Given the description of an element on the screen output the (x, y) to click on. 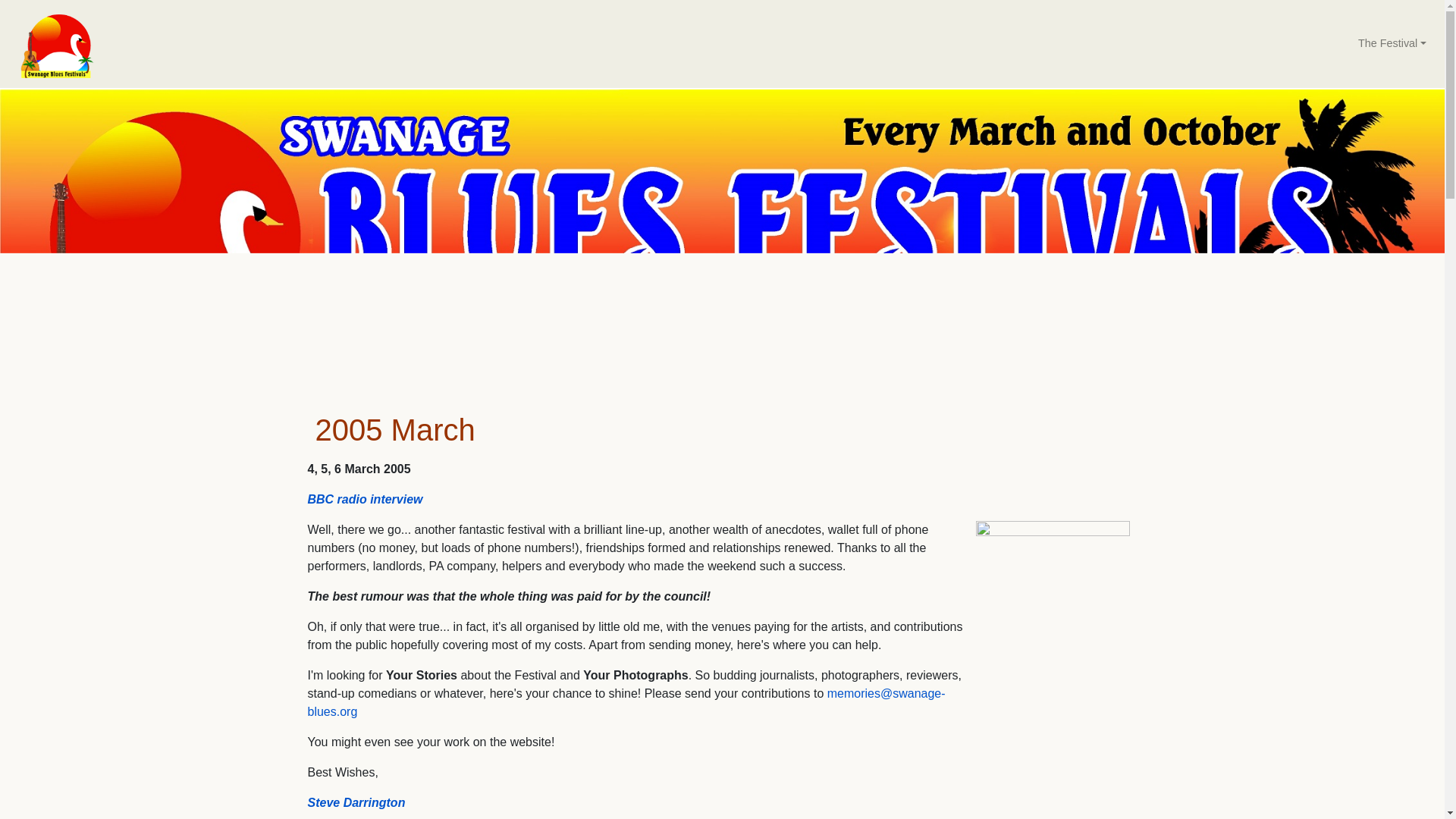
Steve Darrington (356, 802)
Contact The Organiser (356, 802)
The Festival (1392, 43)
BBC radio interview (365, 499)
send e-mail (625, 702)
